Given the description of an element on the screen output the (x, y) to click on. 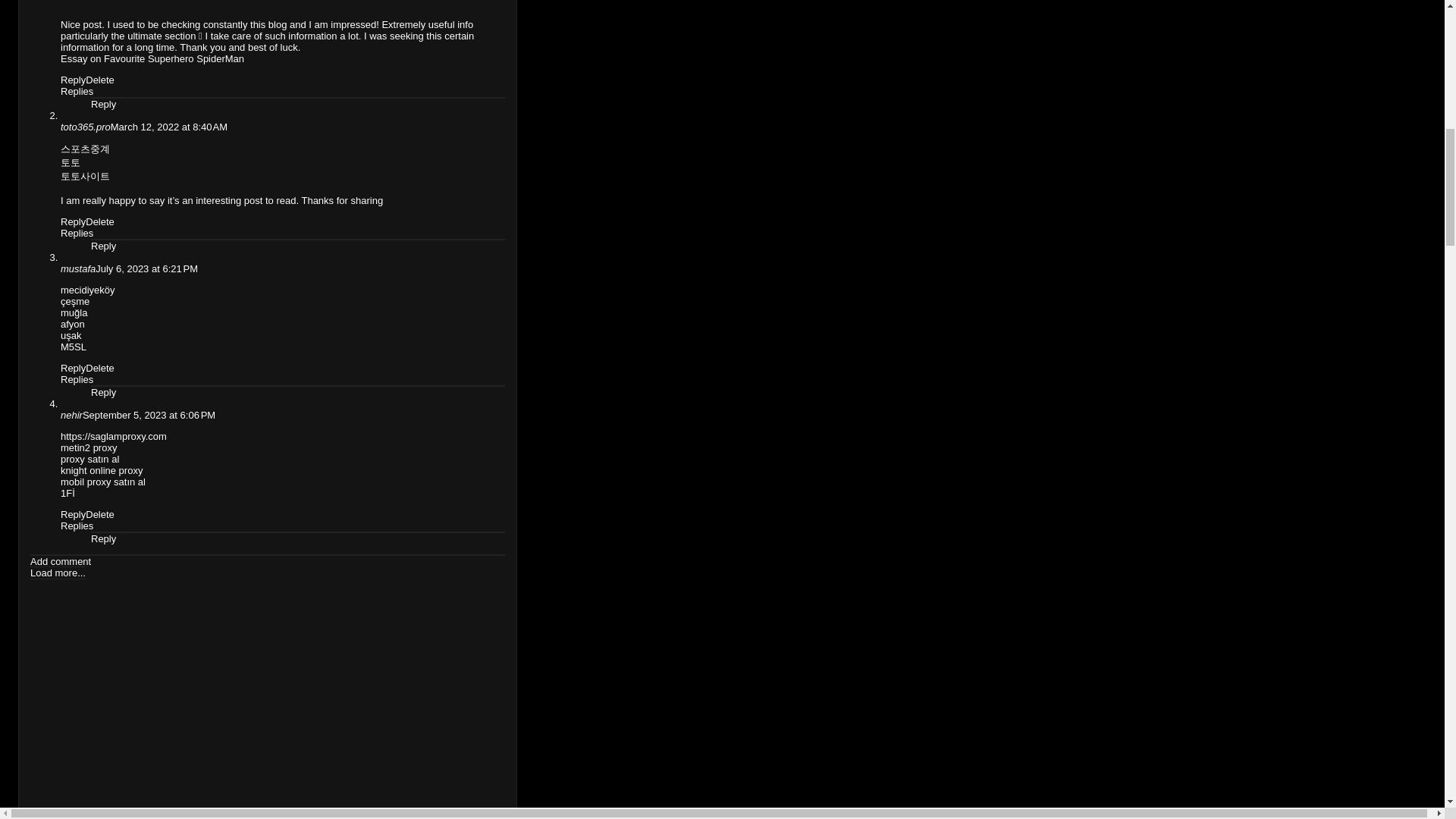
Essay on Favourite Superhero SpiderMan (152, 58)
Replies (77, 233)
Replies (77, 91)
Reply (103, 103)
Reply (73, 79)
Reply (73, 221)
Reply (103, 245)
Delete (100, 221)
afyon (72, 324)
Delete (100, 79)
toto365.pro (85, 126)
